Given the description of an element on the screen output the (x, y) to click on. 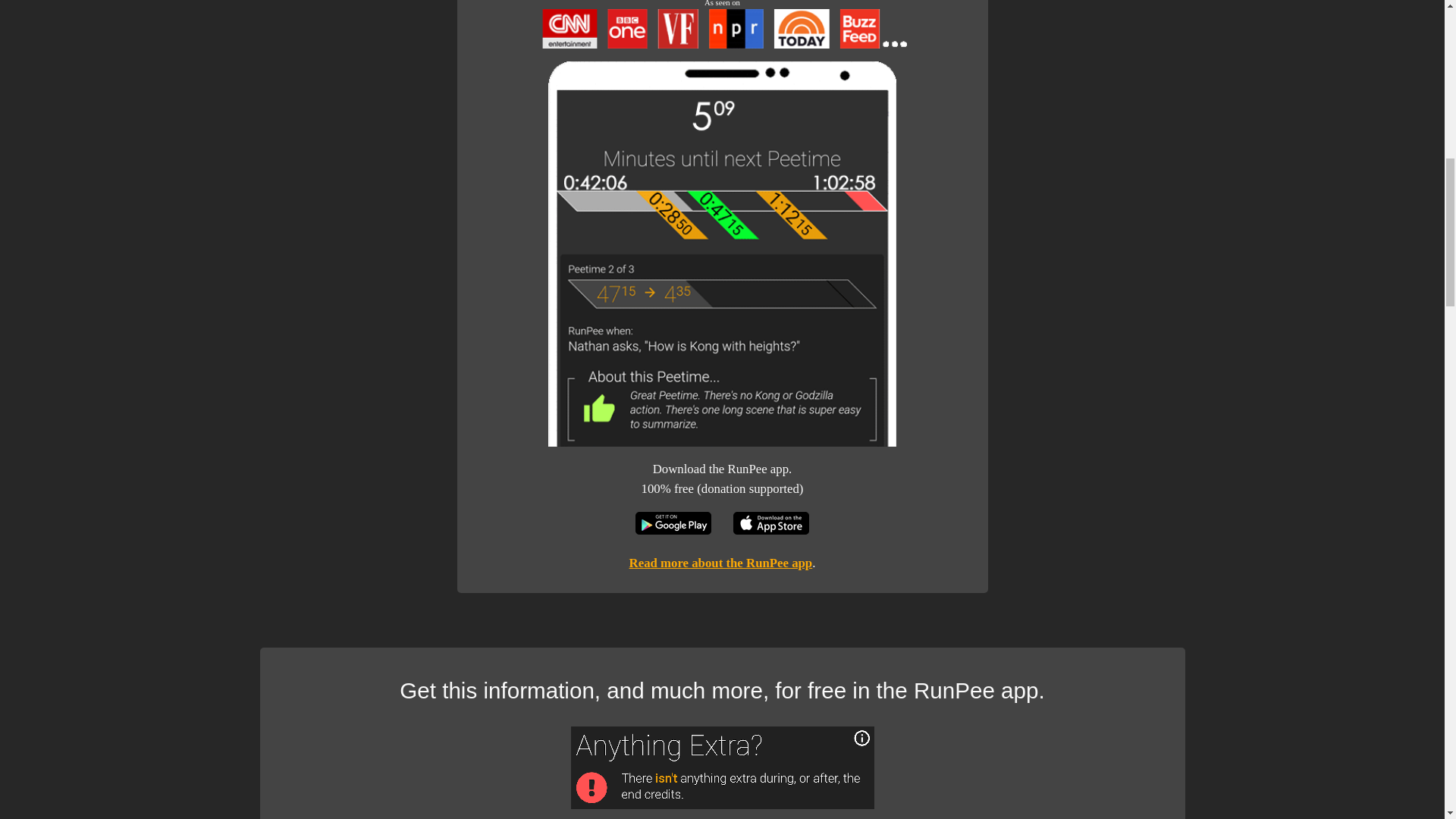
Read more about the RunPee app (720, 563)
